Given the description of an element on the screen output the (x, y) to click on. 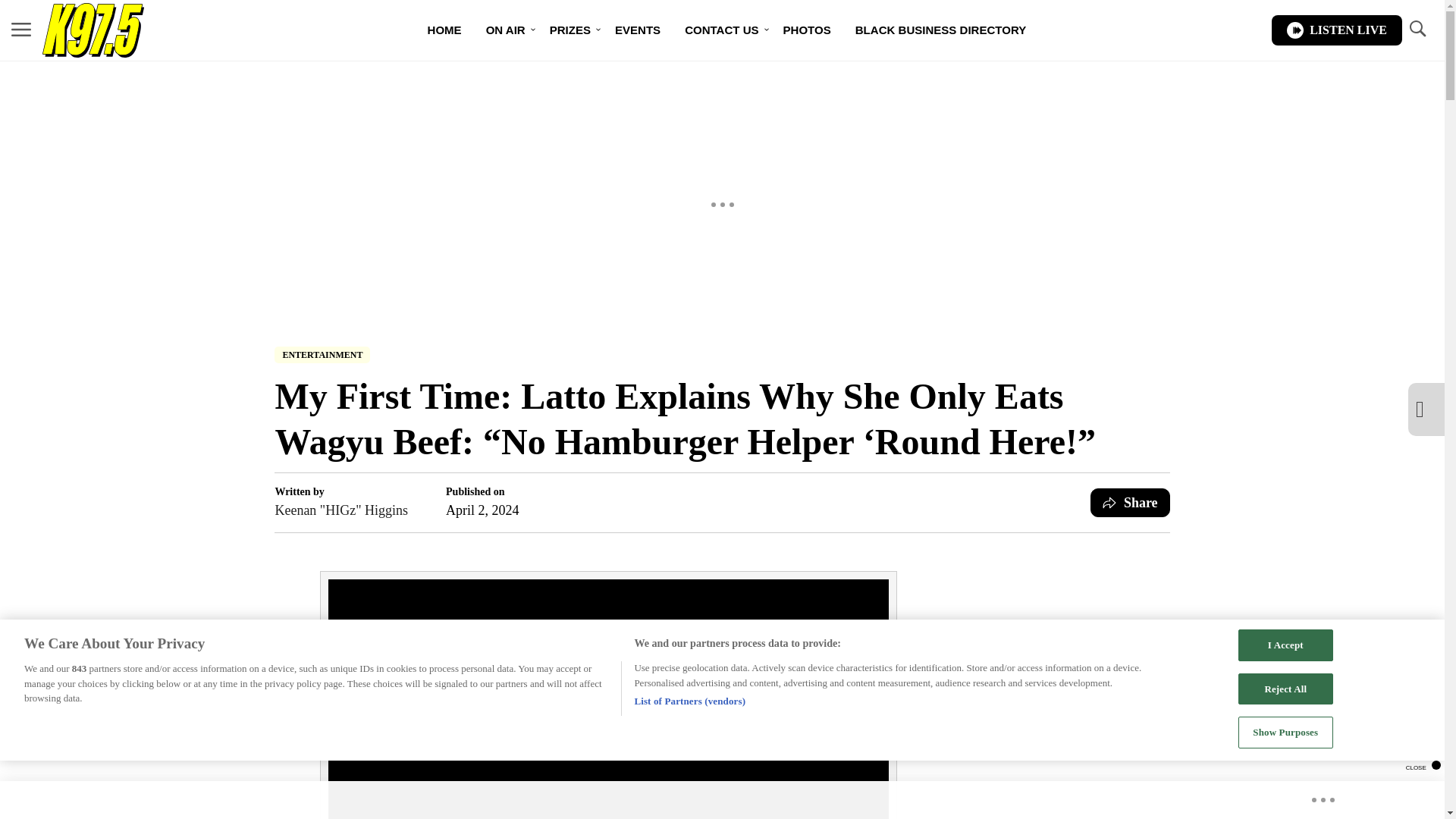
Share (1130, 502)
HOME (444, 30)
ENTERTAINMENT (322, 354)
ON AIR (505, 30)
CONTACT US (721, 30)
EVENTS (637, 30)
TOGGLE SEARCH (1417, 28)
LISTEN LIVE (1336, 30)
BLACK BUSINESS DIRECTORY (941, 30)
Keenan "HIGz" Higgins (341, 509)
MENU (20, 30)
TOGGLE SEARCH (1417, 30)
PRIZES (569, 30)
PHOTOS (807, 30)
MENU (20, 29)
